Given the description of an element on the screen output the (x, y) to click on. 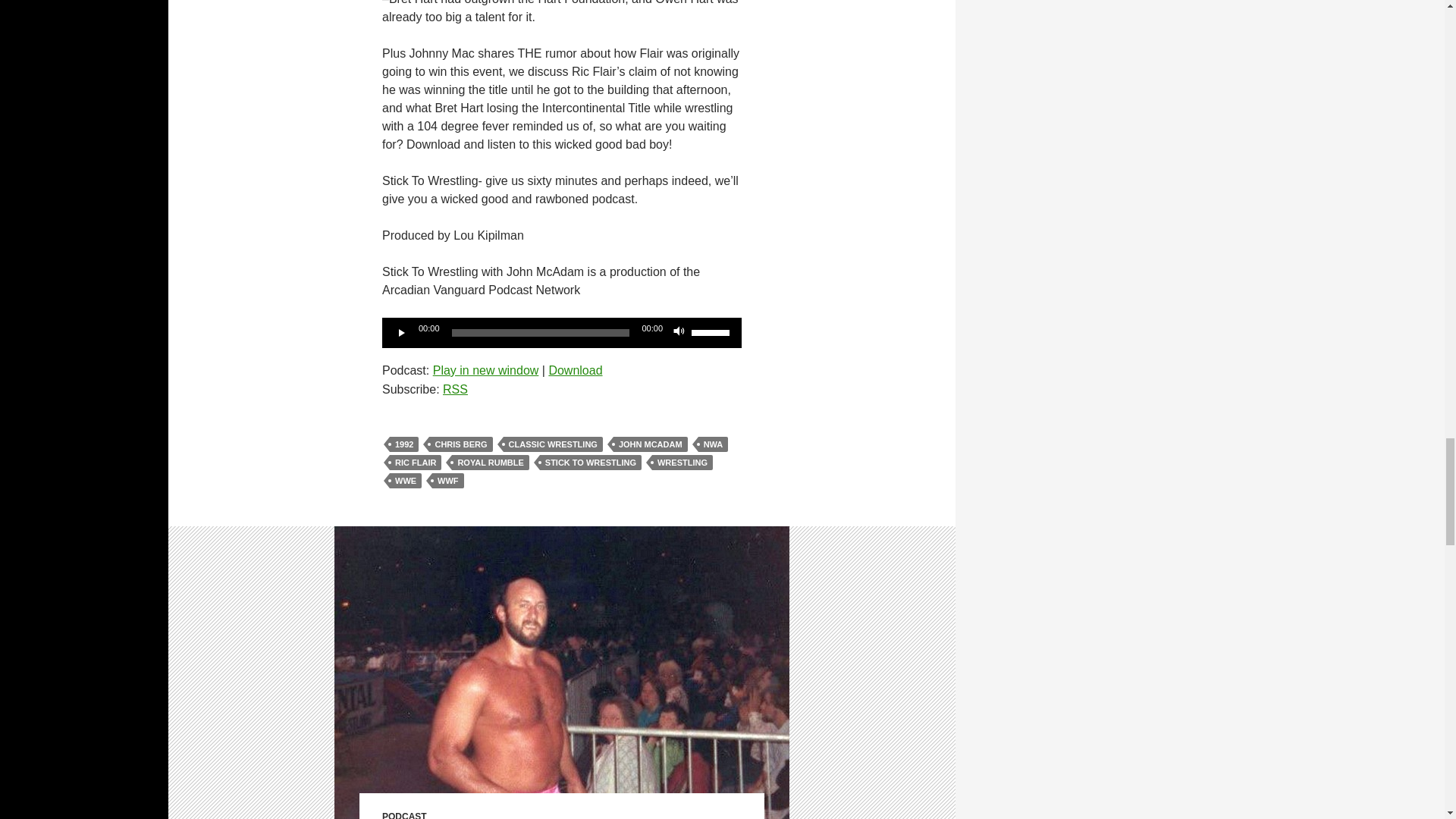
Play in new window (485, 369)
Mute (679, 332)
Subscribe via RSS (454, 389)
Play (401, 332)
Download (575, 369)
